Given the description of an element on the screen output the (x, y) to click on. 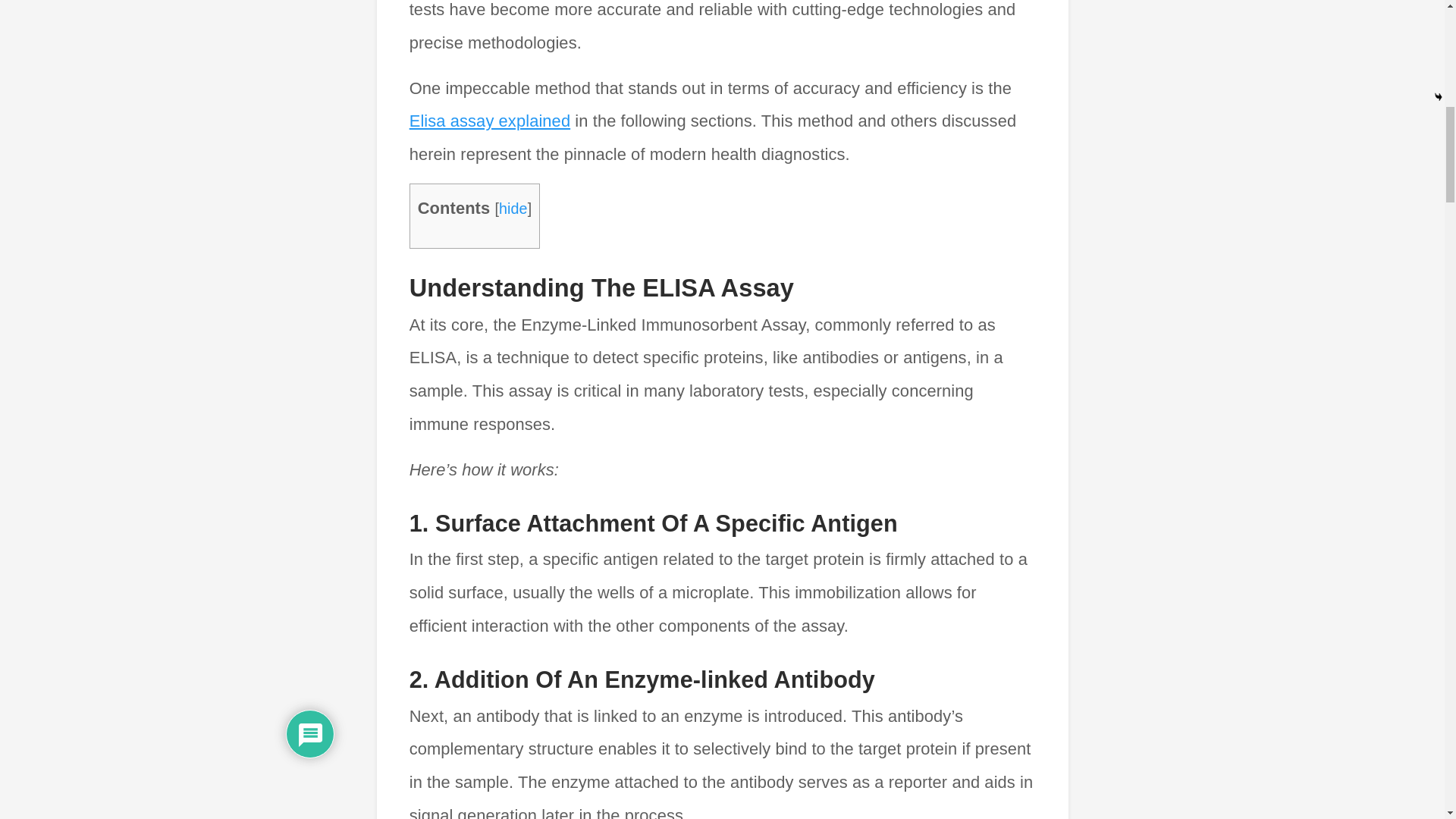
hide (513, 208)
Elisa assay explained (489, 120)
